Given the description of an element on the screen output the (x, y) to click on. 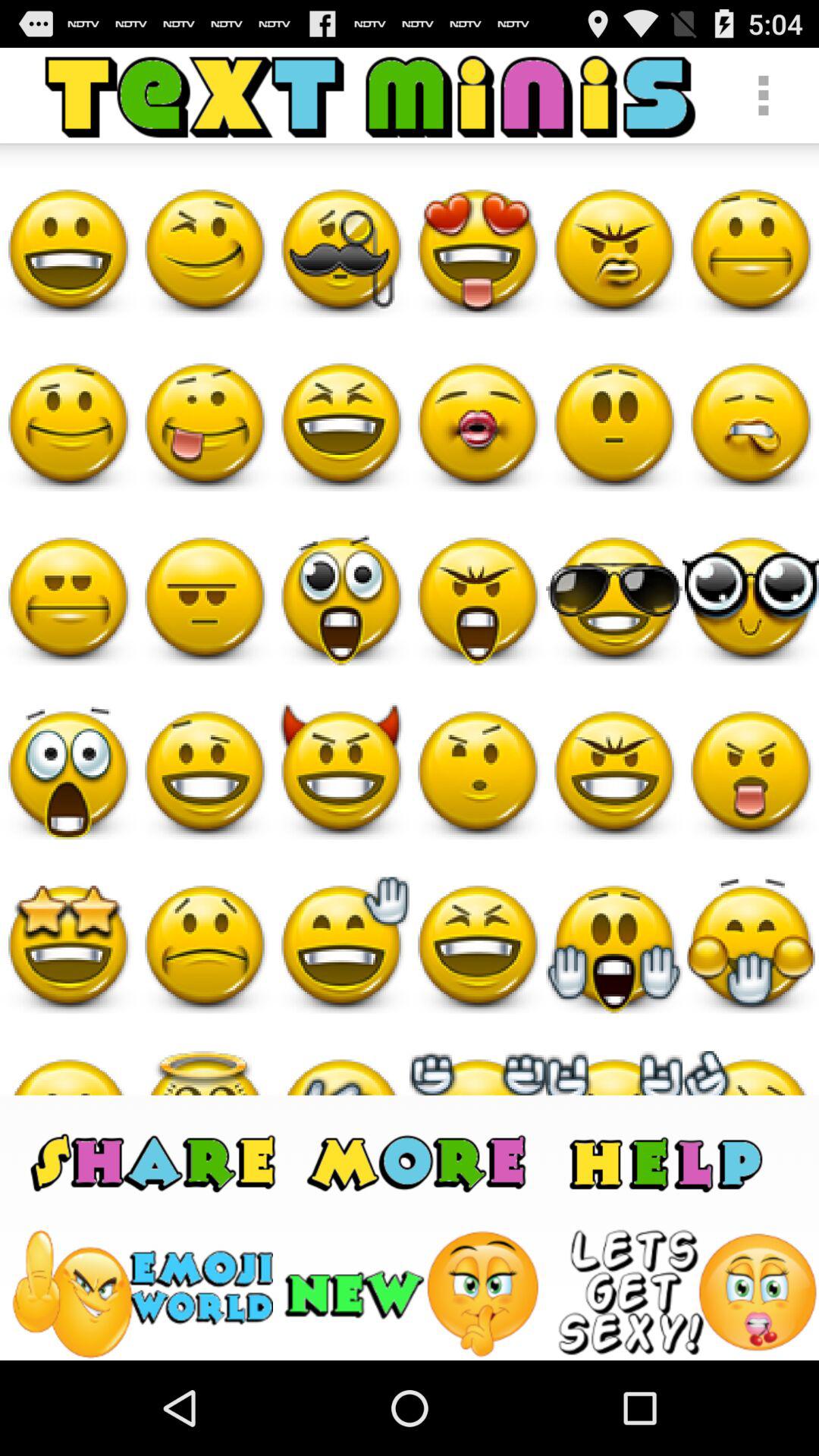
open emoji world category (141, 1293)
